Given the description of an element on the screen output the (x, y) to click on. 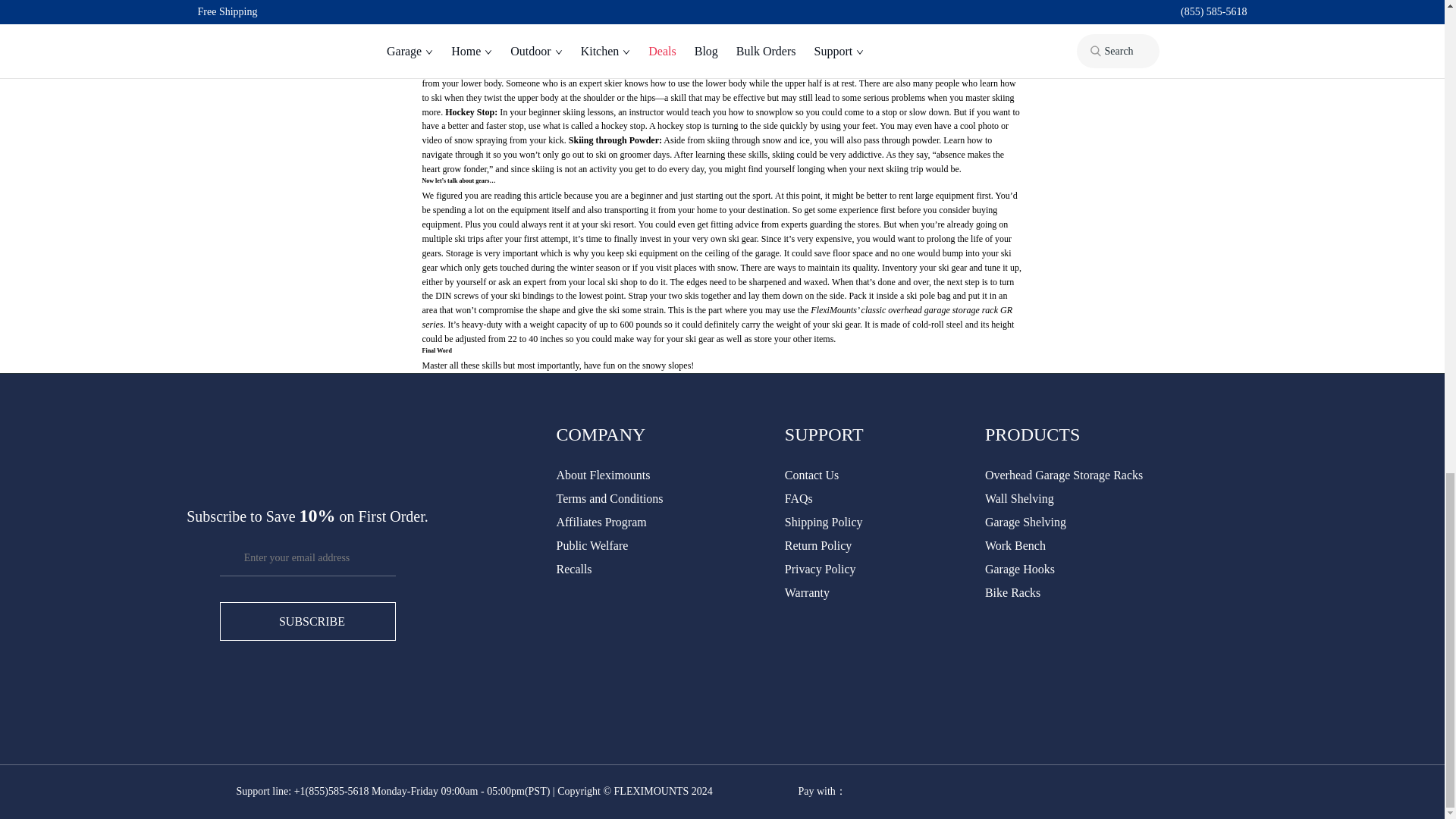
Shipping Policy (823, 521)
Affiliates Program (601, 521)
Terms and Conditions (609, 498)
Return Policy (817, 545)
Privacy Policy (820, 568)
Public Welfare (592, 545)
Wall Shelving (1019, 498)
Overhead Garage Storage Racks (1063, 474)
Contact Us (812, 474)
FAQs (798, 498)
Warranty (806, 592)
SUBSCRIBE (307, 620)
About Fleximounts (603, 474)
Recalls (574, 568)
Garage Shelving (1025, 521)
